Given the description of an element on the screen output the (x, y) to click on. 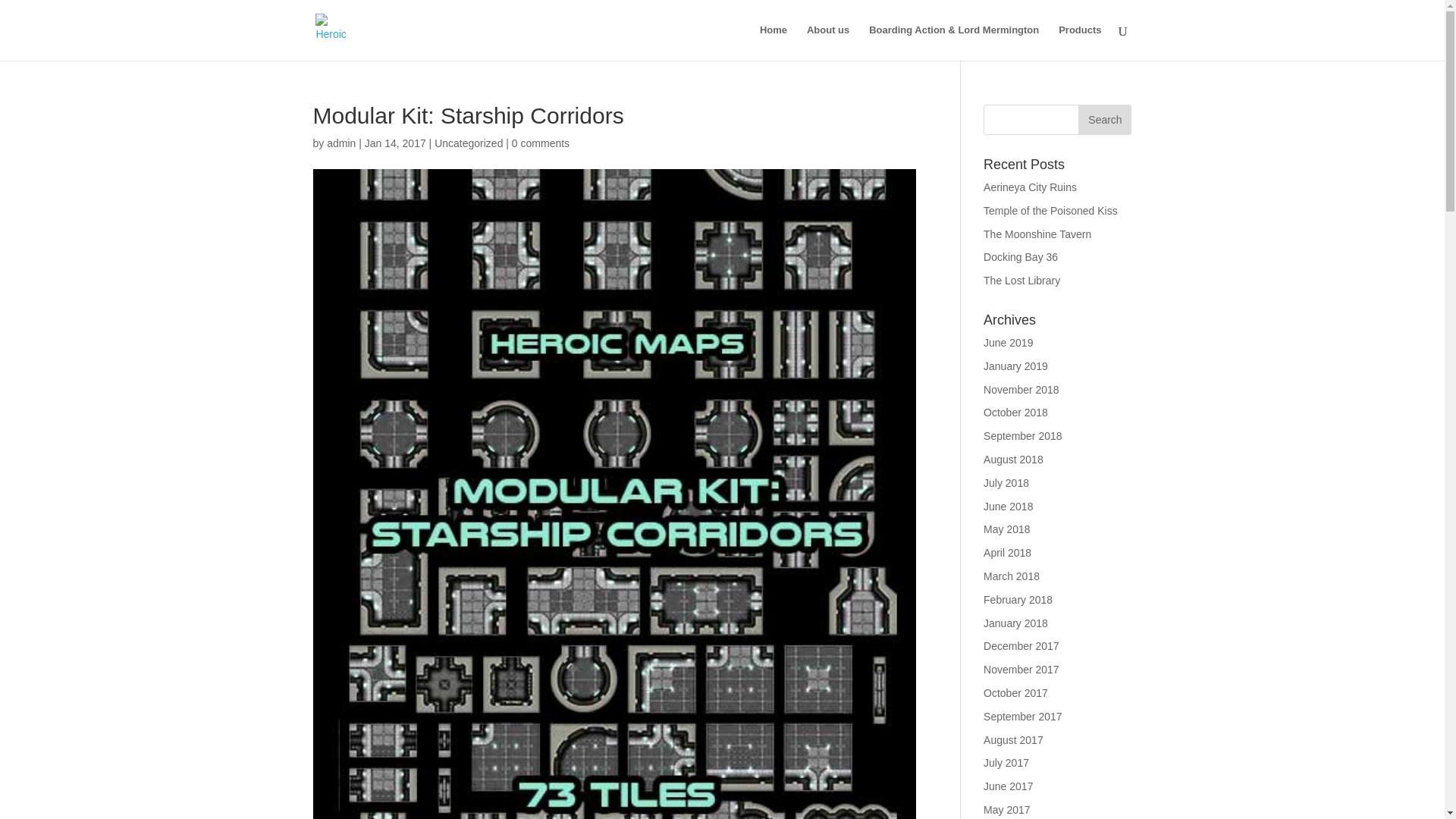
About us (827, 42)
September 2018 (1023, 435)
October 2017 (1016, 693)
December 2017 (1021, 645)
November 2017 (1021, 669)
January 2018 (1016, 623)
admin (340, 143)
April 2018 (1007, 552)
0 comments (540, 143)
March 2018 (1011, 576)
